Given the description of an element on the screen output the (x, y) to click on. 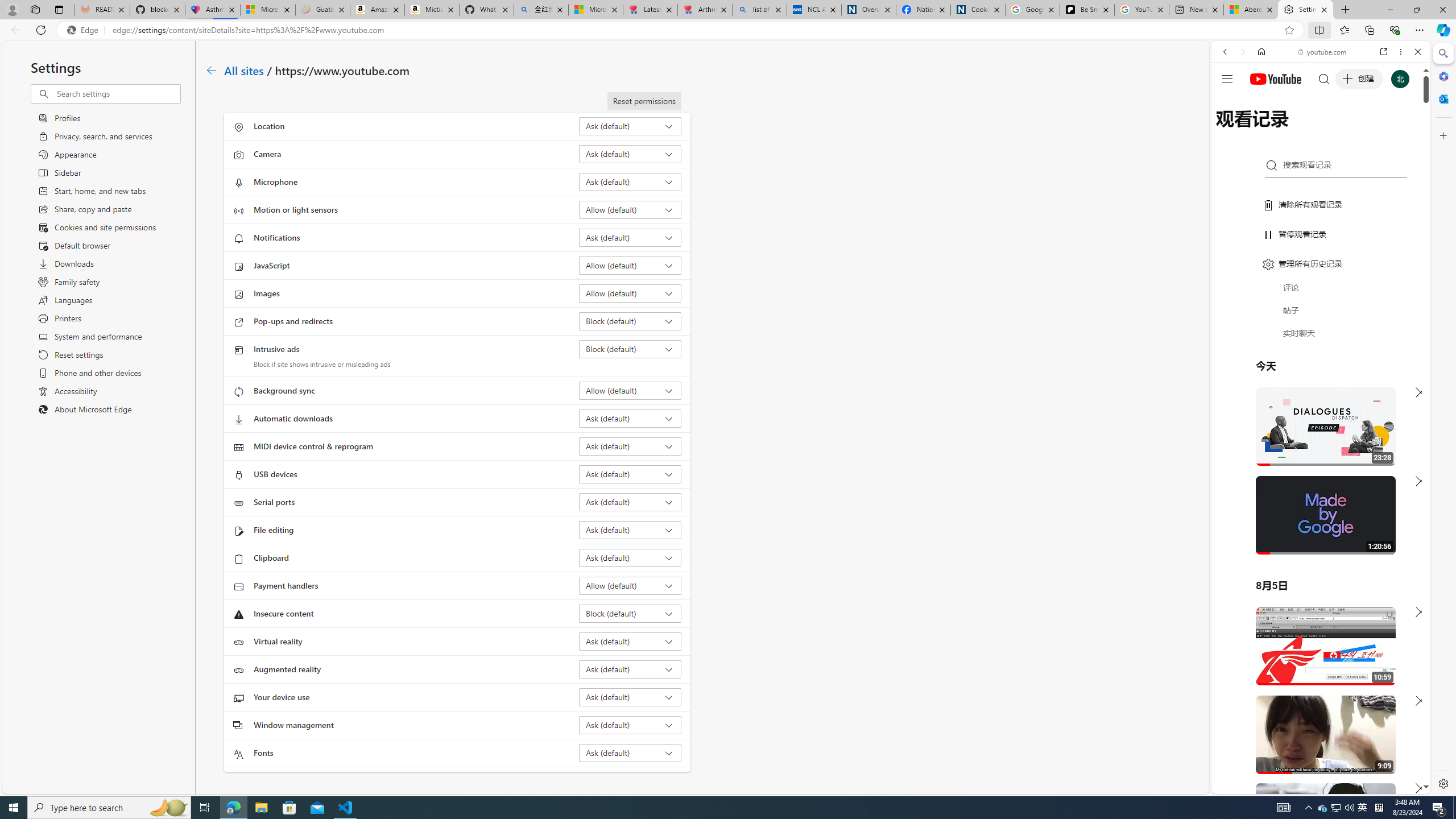
Close Outlook pane (1442, 98)
Camera Ask (default) (630, 153)
Web scope (1230, 102)
Intrusive ads Block (default) (630, 348)
Be Smart | creating Science videos | Patreon (1087, 9)
Click to scroll right (1407, 456)
Forward (1242, 51)
